Given the description of an element on the screen output the (x, y) to click on. 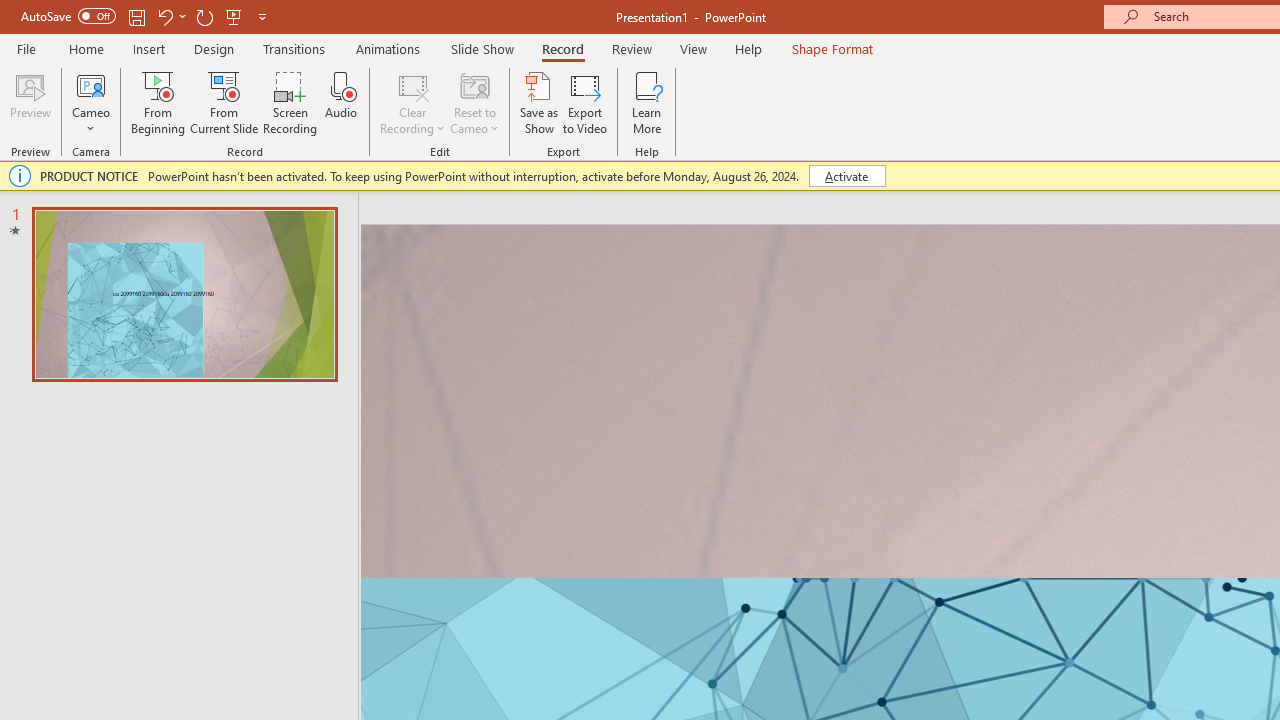
From Current Slide... (224, 102)
From Beginning... (158, 102)
Audio (341, 102)
Screen Recording (290, 102)
Save as Show (539, 102)
